Given the description of an element on the screen output the (x, y) to click on. 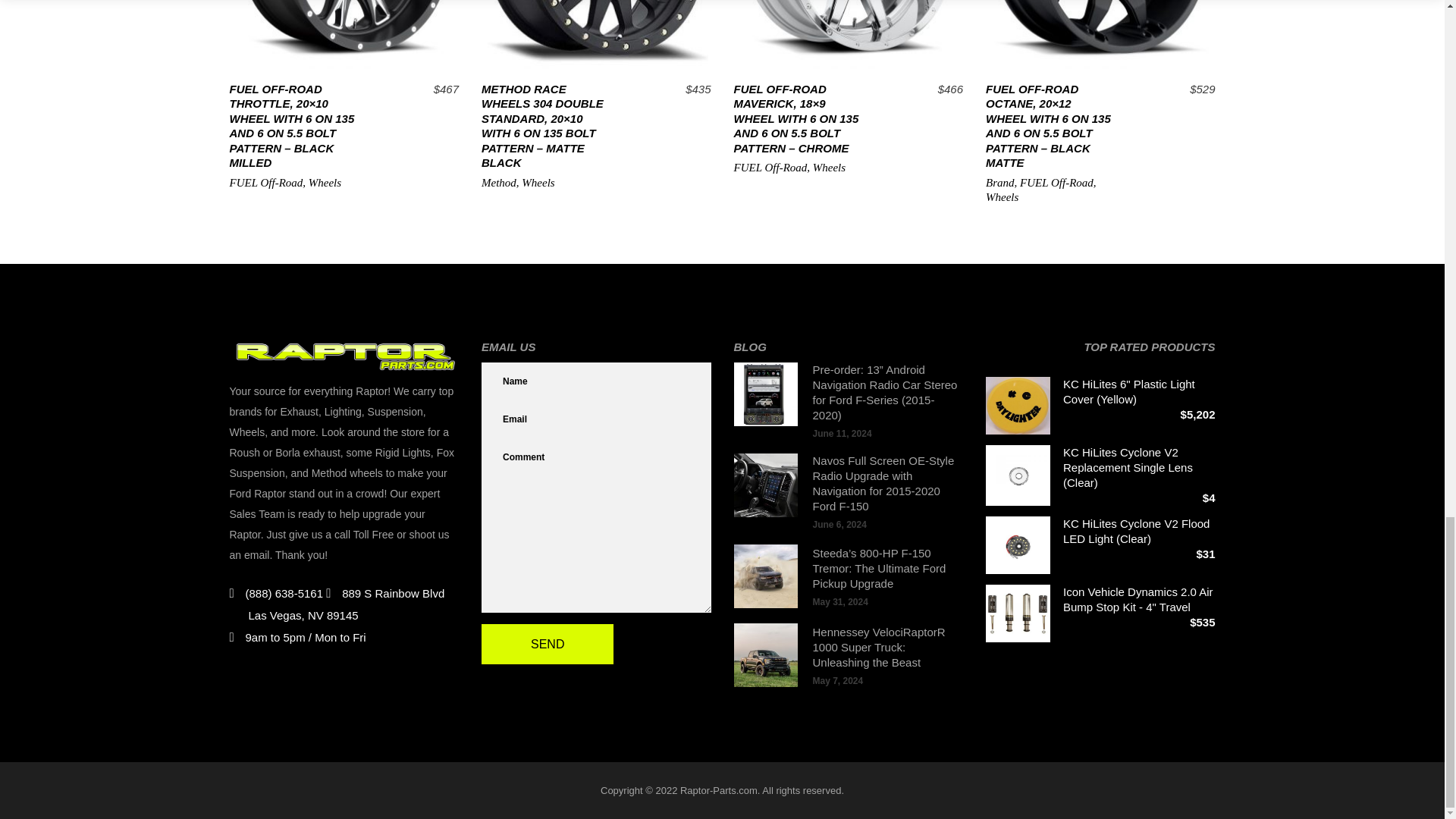
Send (546, 644)
